Given the description of an element on the screen output the (x, y) to click on. 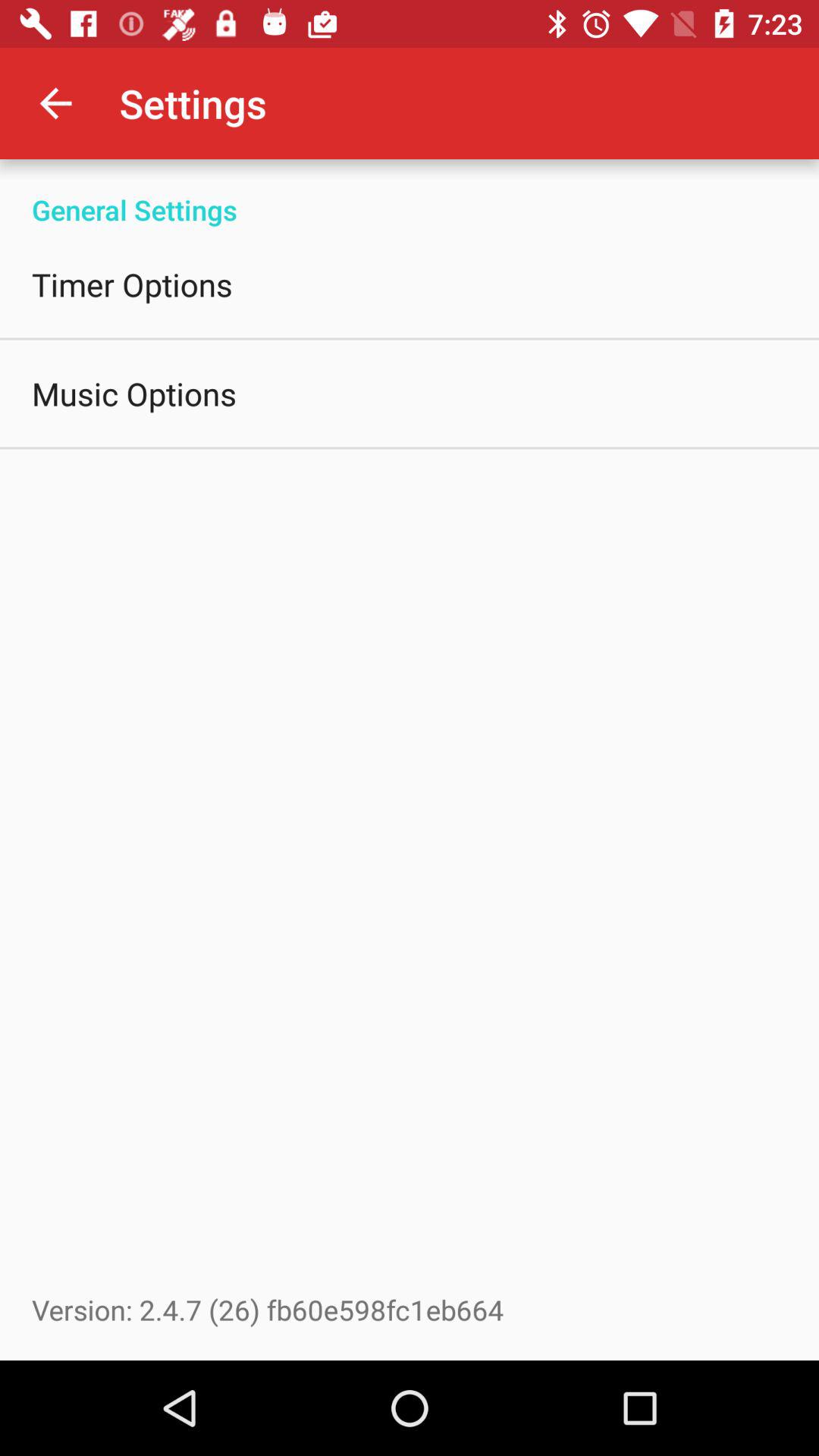
tap the item next to settings item (55, 103)
